Given the description of an element on the screen output the (x, y) to click on. 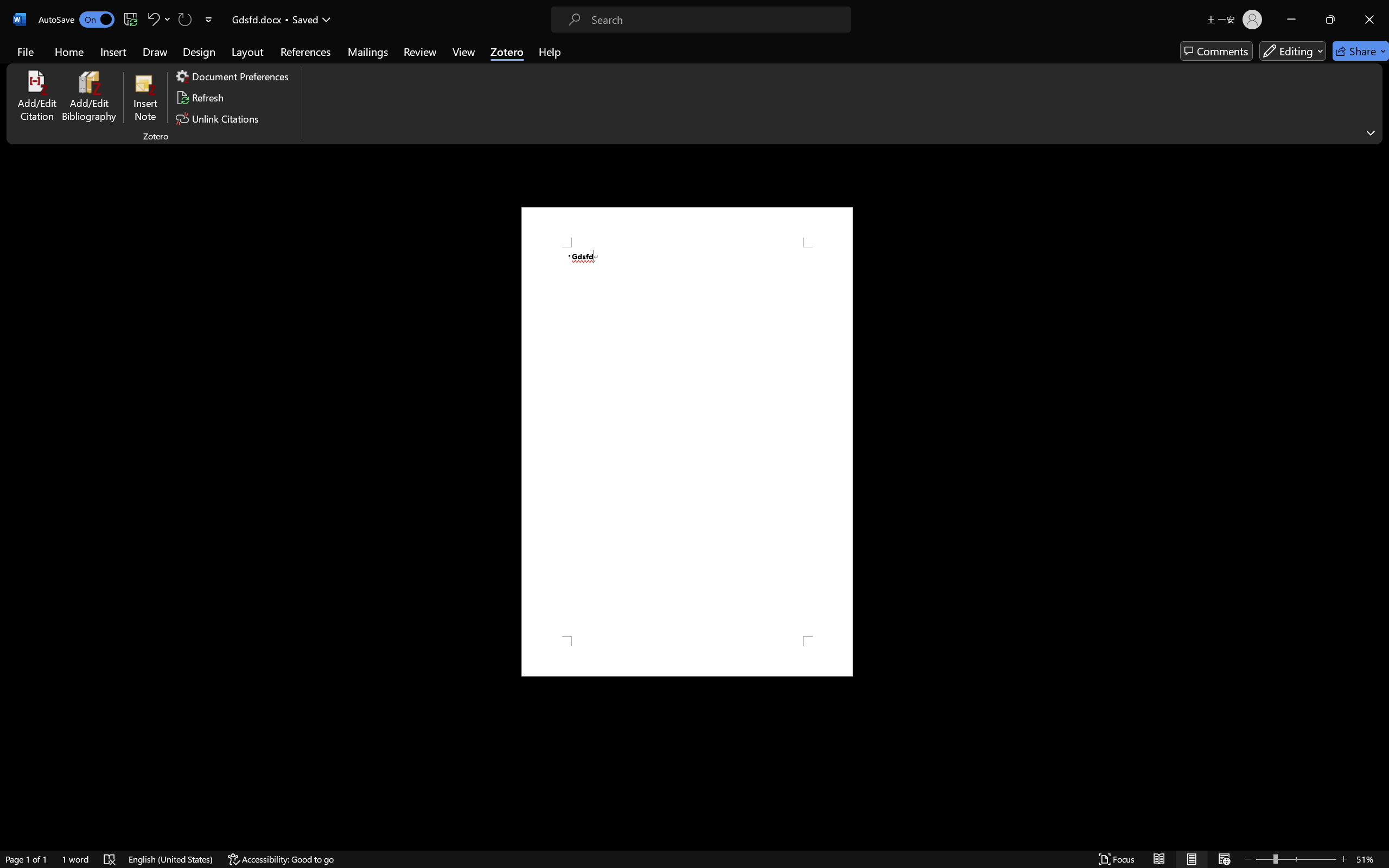
Page 1 content (686, 441)
